Given the description of an element on the screen output the (x, y) to click on. 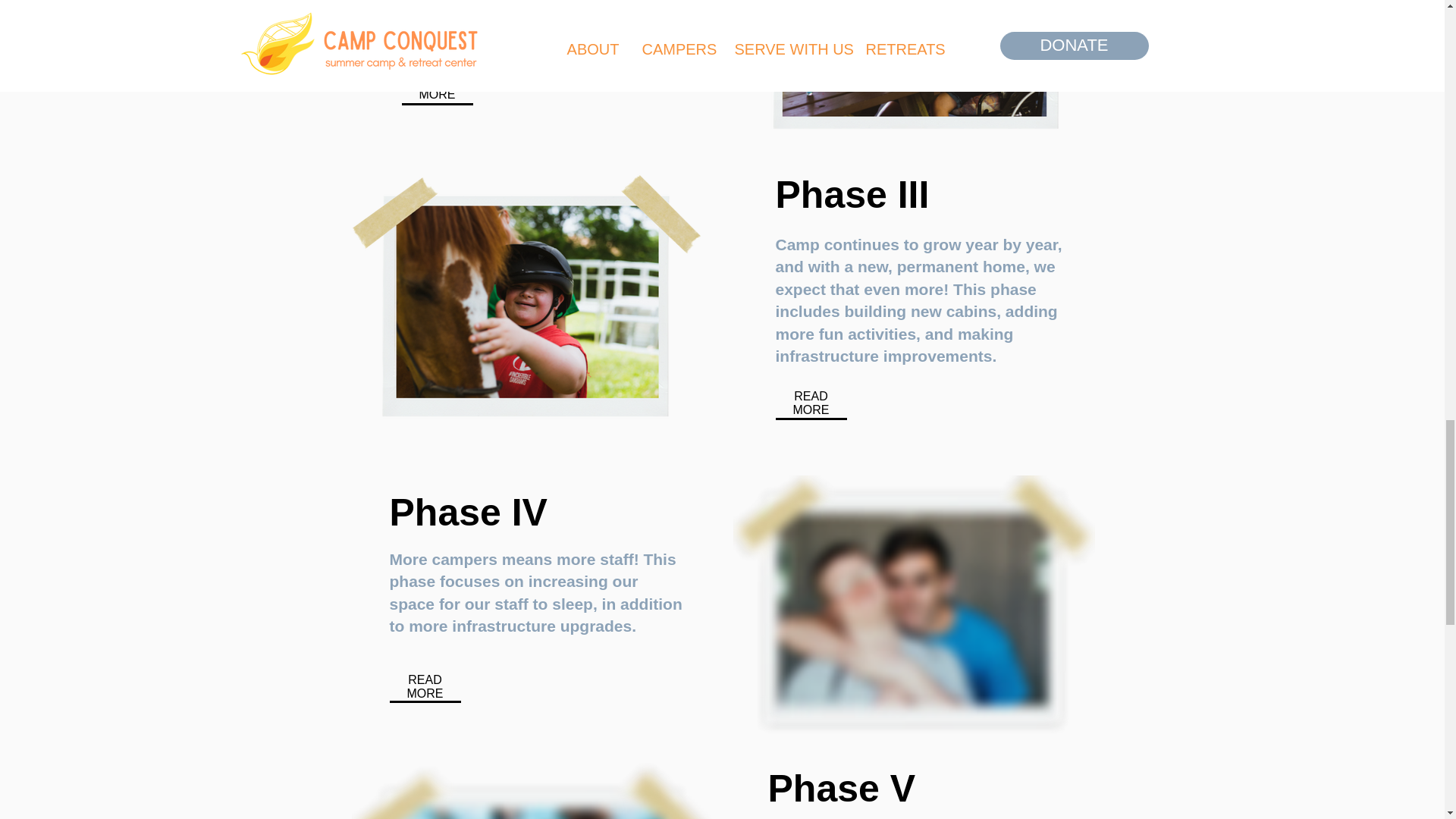
READ MORE (436, 87)
Main Lodge.png (913, 604)
Main Lodge.png (532, 790)
Main Lodge.png (524, 301)
READ MORE (811, 402)
READ MORE (424, 686)
Main Lodge.png (913, 70)
